Given the description of an element on the screen output the (x, y) to click on. 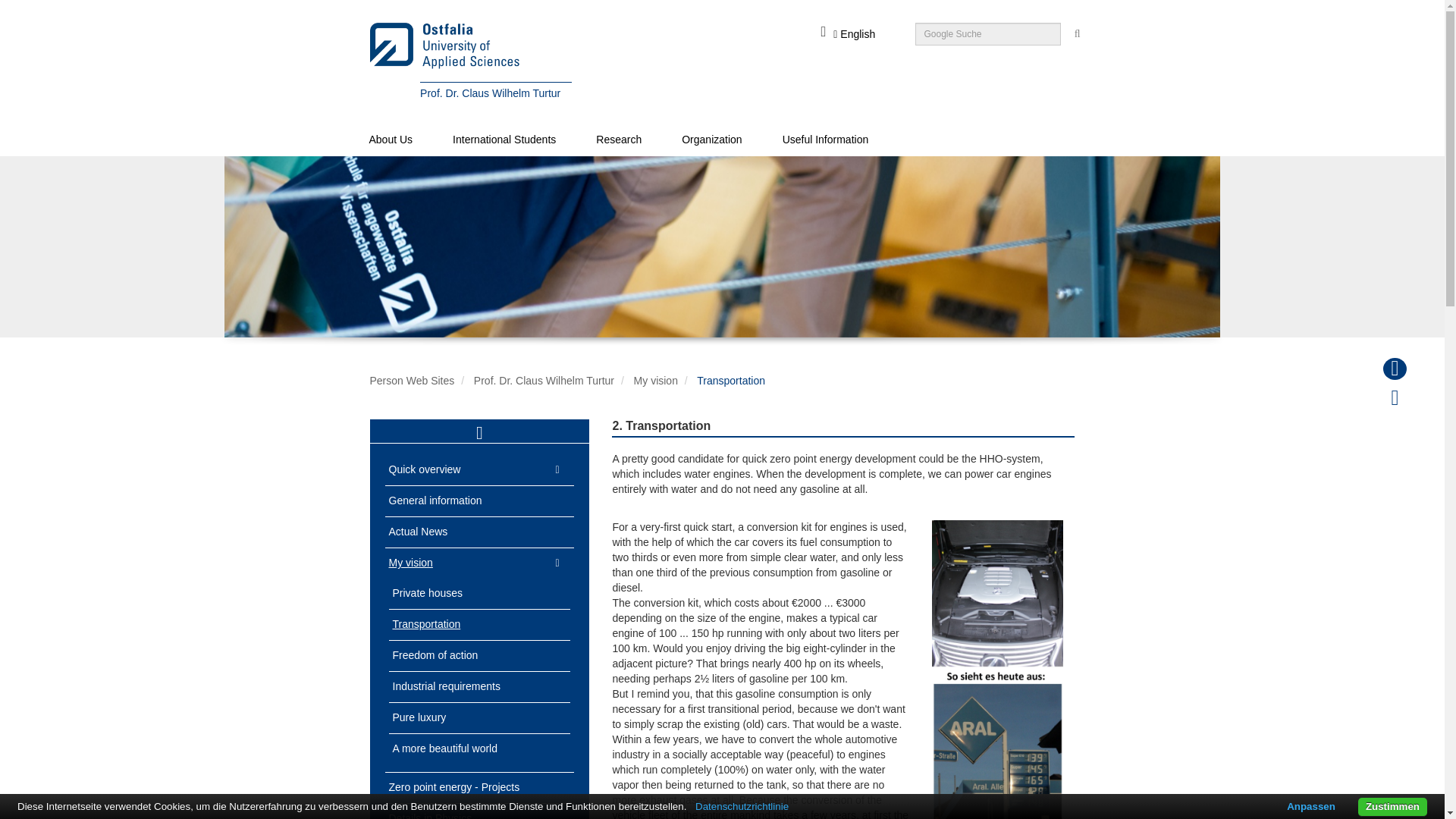
Select language (854, 33)
About Us (391, 140)
English (854, 33)
To the navigation (661, 6)
Research (618, 140)
International Students (504, 140)
Ostfalia Logo: links to Ostfalia Home (570, 46)
To the navigation (661, 6)
